Given the description of an element on the screen output the (x, y) to click on. 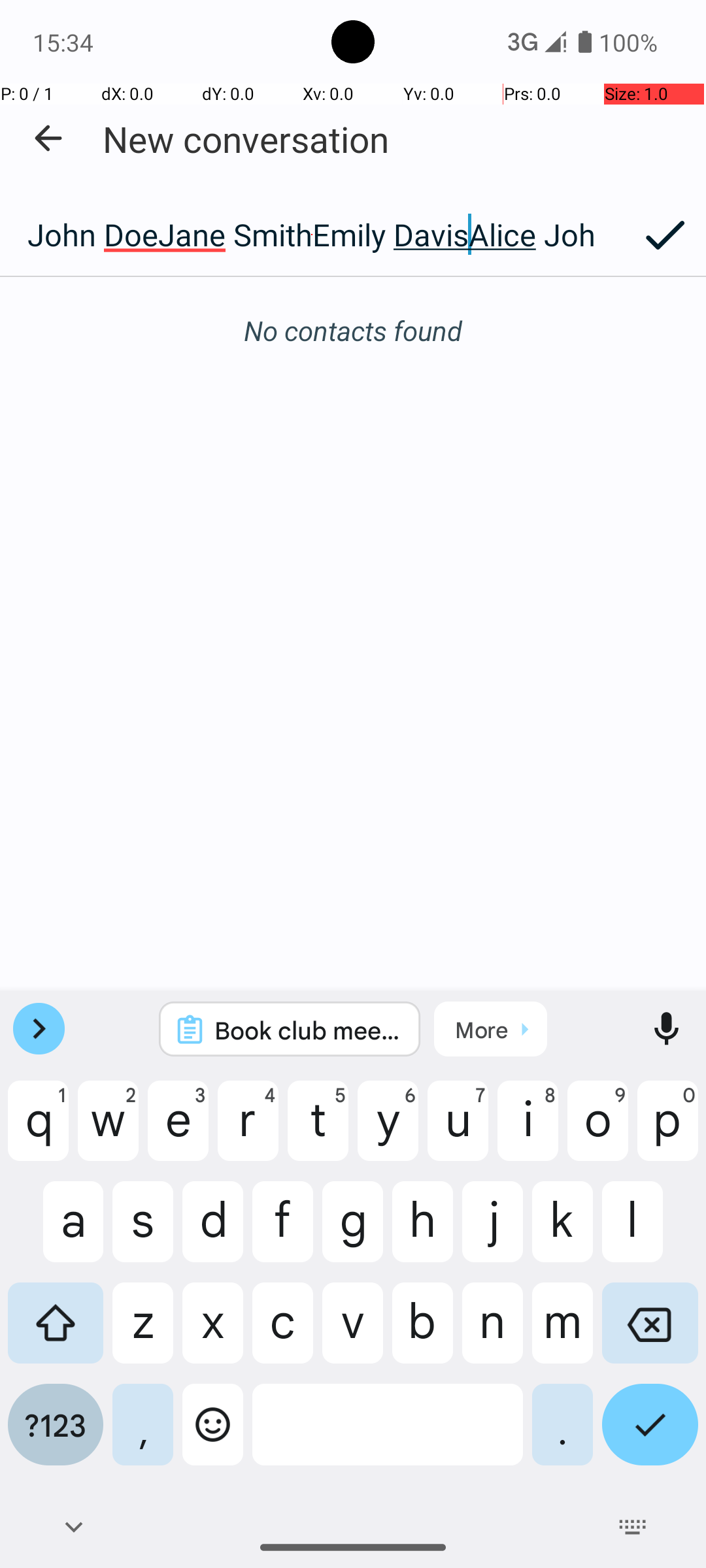
New conversation Element type: android.widget.TextView (245, 138)
John DoeJane SmithEmily DavisAlice Johnson Element type: android.widget.EditText (311, 234)
No contacts found Element type: android.widget.TextView (353, 329)
Book club meets next Tuesday to discuss '1984'. Element type: android.widget.TextView (306, 1029)
